Given the description of an element on the screen output the (x, y) to click on. 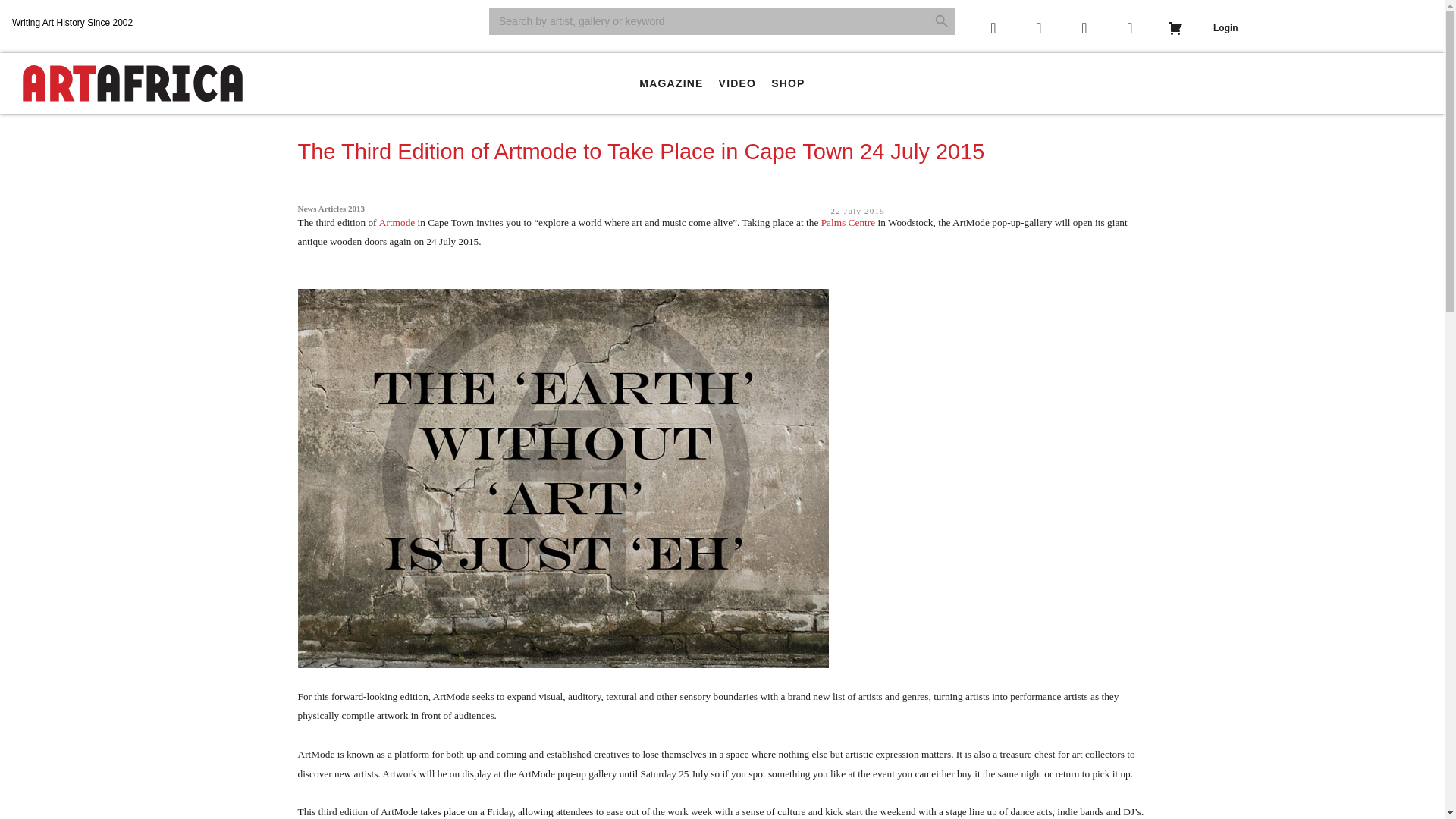
22 July 2015 (858, 210)
MAGAZINE (670, 83)
VIDEO (737, 83)
News Articles 2013 (331, 207)
Login (1225, 27)
Search Button (941, 21)
Artmode (396, 222)
Palms Centre (848, 222)
SHOP (787, 83)
